Given the description of an element on the screen output the (x, y) to click on. 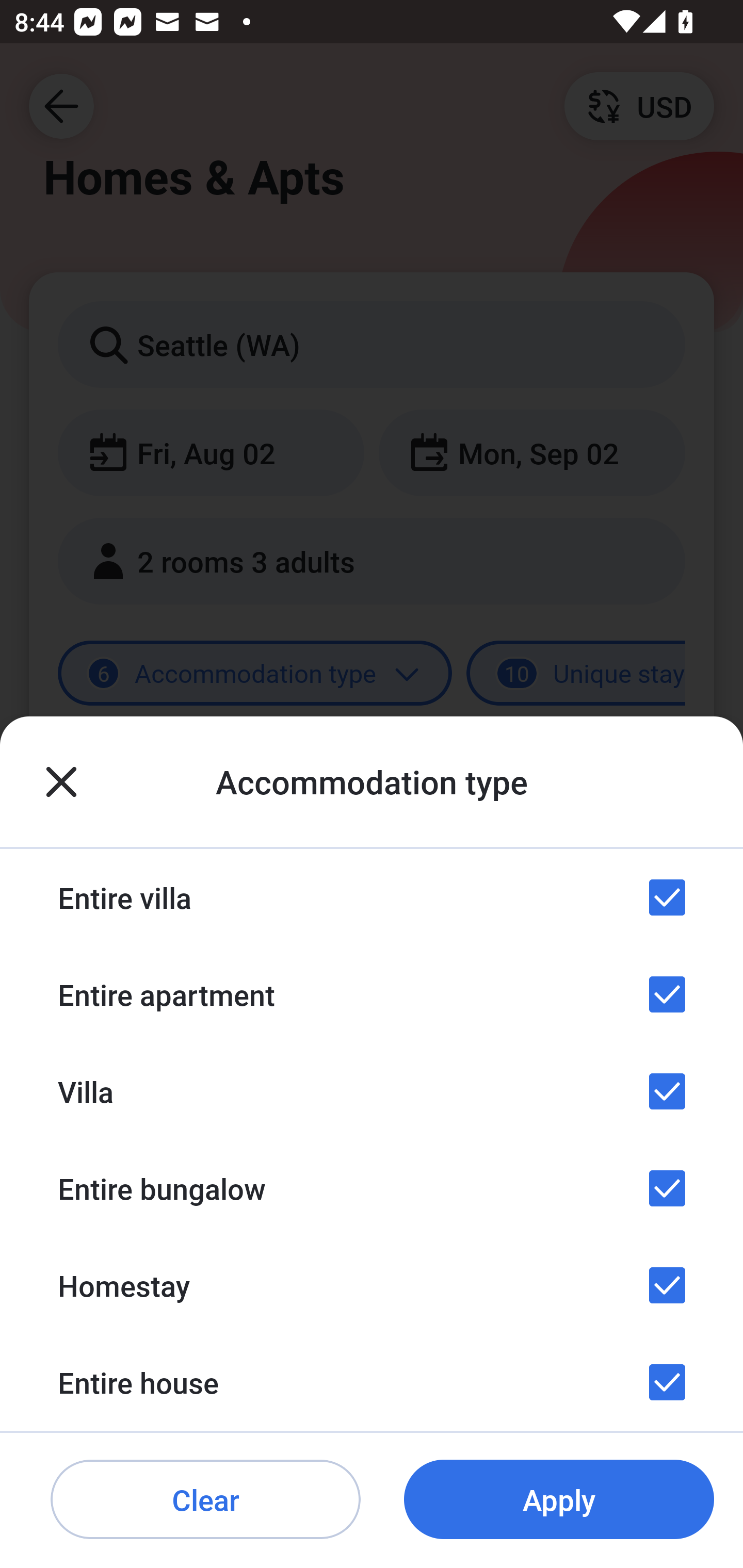
Entire villa (371, 897)
Entire apartment (371, 994)
Villa (371, 1091)
Entire bungalow (371, 1188)
Homestay (371, 1284)
Entire house (371, 1382)
Clear (205, 1499)
Apply (559, 1499)
